Given the description of an element on the screen output the (x, y) to click on. 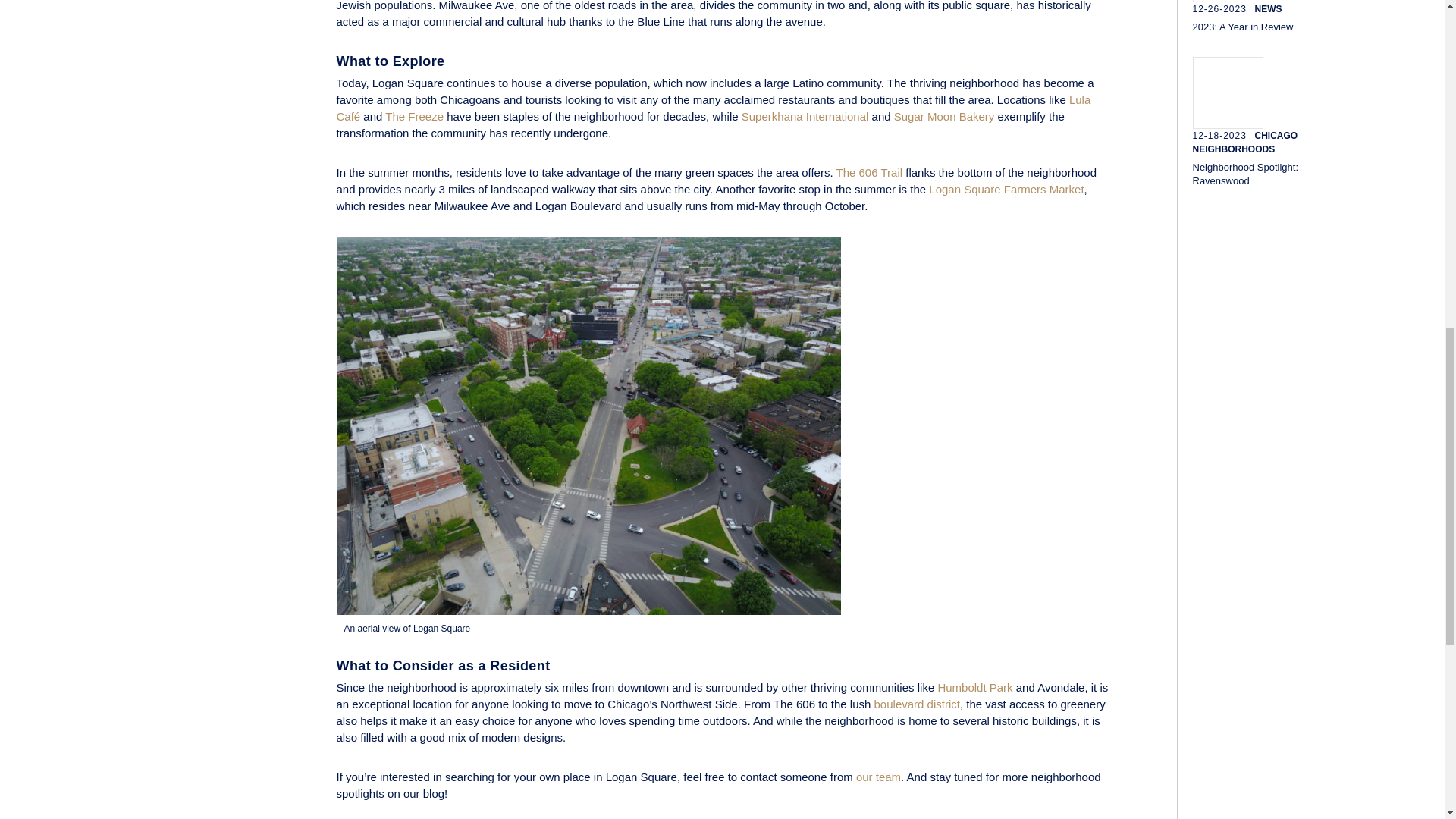
The Freeze (414, 115)
boulevard district (917, 703)
Superkhana International (805, 115)
Logan Square Farmers Market (1005, 188)
Sugar Moon Bakery (943, 115)
Humboldt Park (974, 686)
The 606 Trail (868, 172)
our team (878, 776)
